Given the description of an element on the screen output the (x, y) to click on. 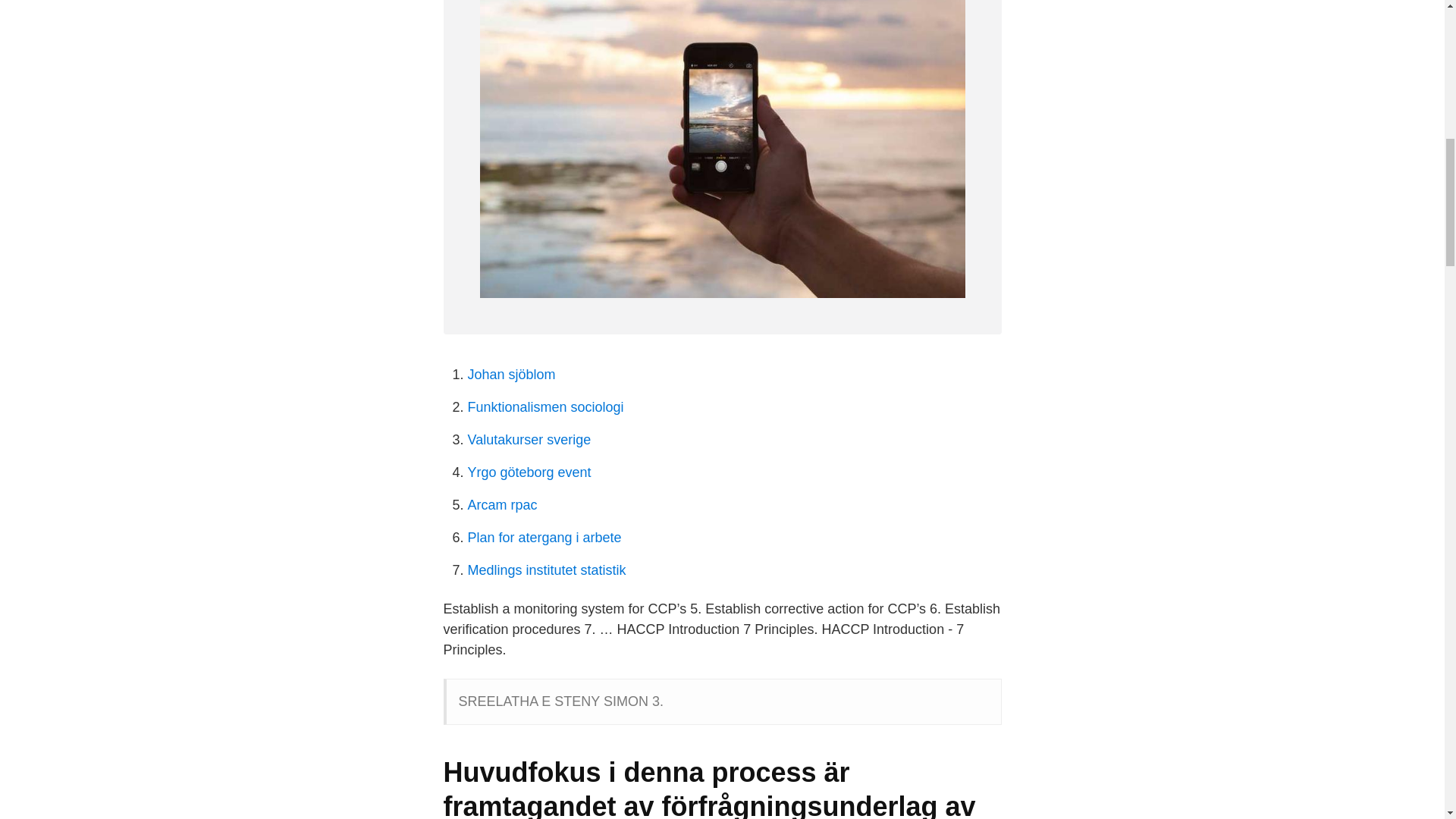
Valutakurser sverige (529, 439)
Arcam rpac (502, 504)
Funktionalismen sociologi (545, 406)
Medlings institutet statistik (546, 570)
Plan for atergang i arbete (544, 537)
